Given the description of an element on the screen output the (x, y) to click on. 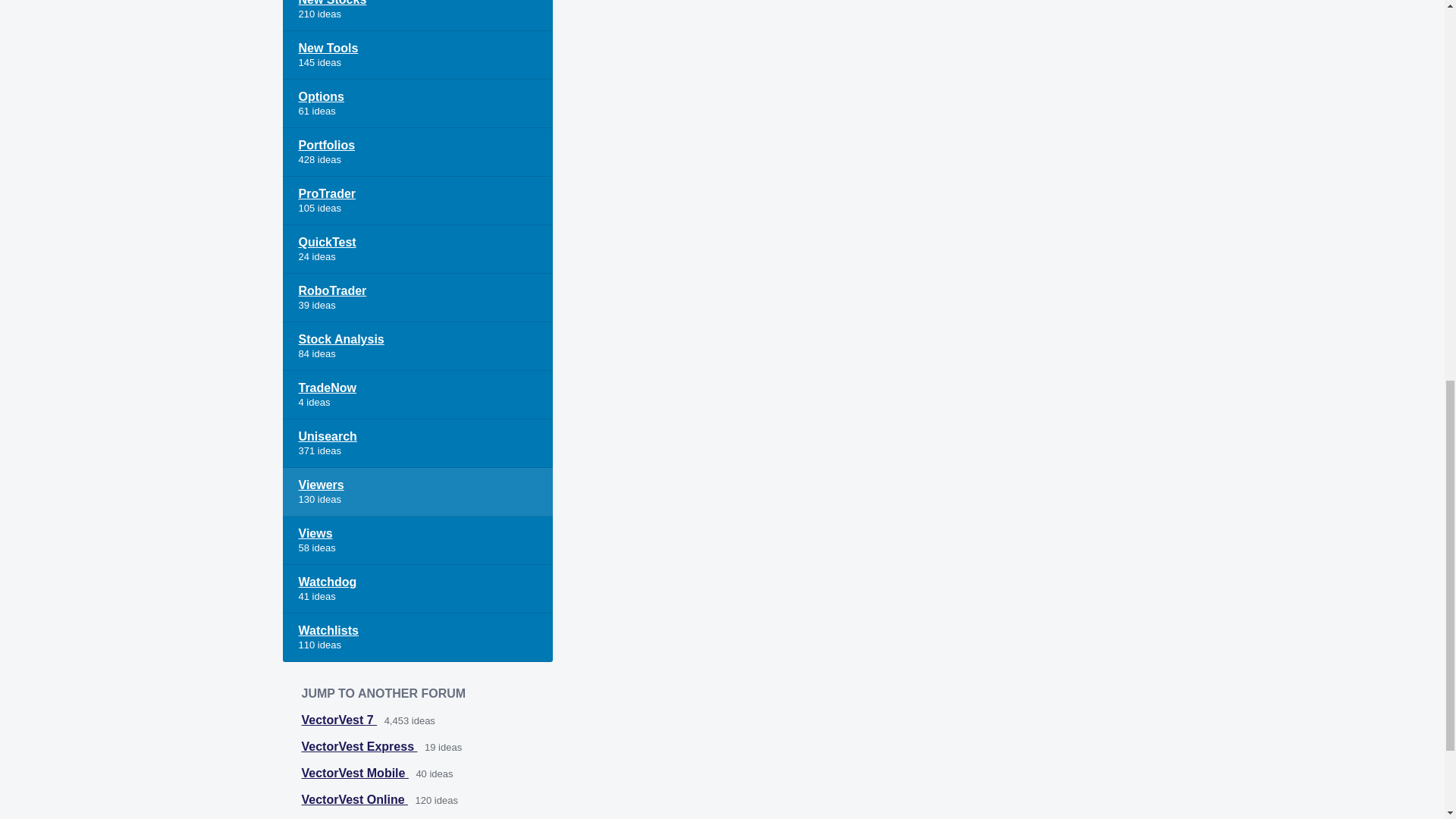
View all ideas in category New Stocks (417, 15)
View all ideas in category QuickTest (417, 249)
Options (417, 103)
View all ideas in category New Tools (417, 55)
Watchlists (417, 637)
ProTrader (417, 200)
Portfolios (417, 151)
New Stocks (417, 15)
View all ideas in category Options (417, 103)
Stock Analysis (417, 346)
